Given the description of an element on the screen output the (x, y) to click on. 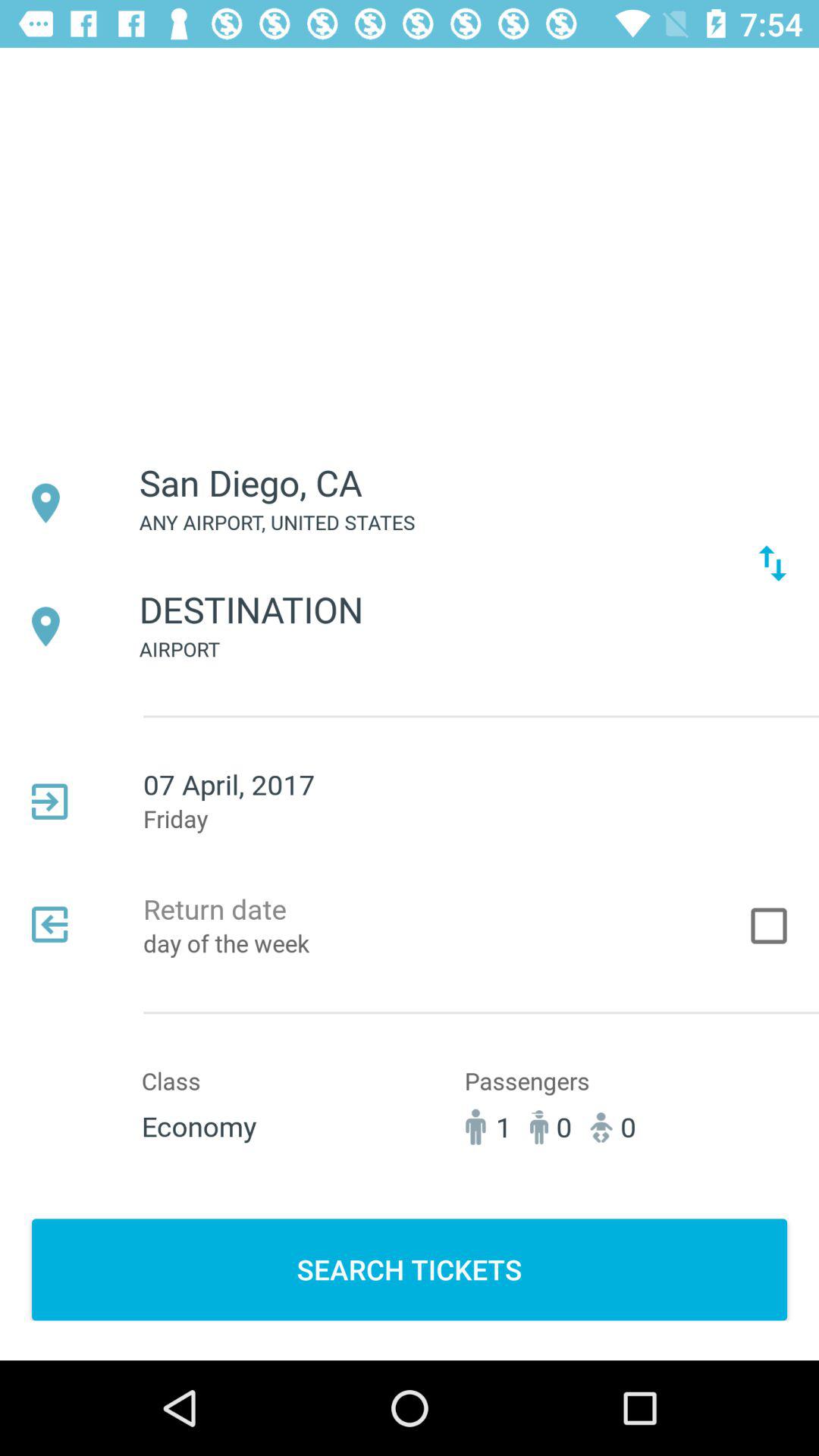
turn on the icon to the right of the any airport united icon (772, 563)
